Given the description of an element on the screen output the (x, y) to click on. 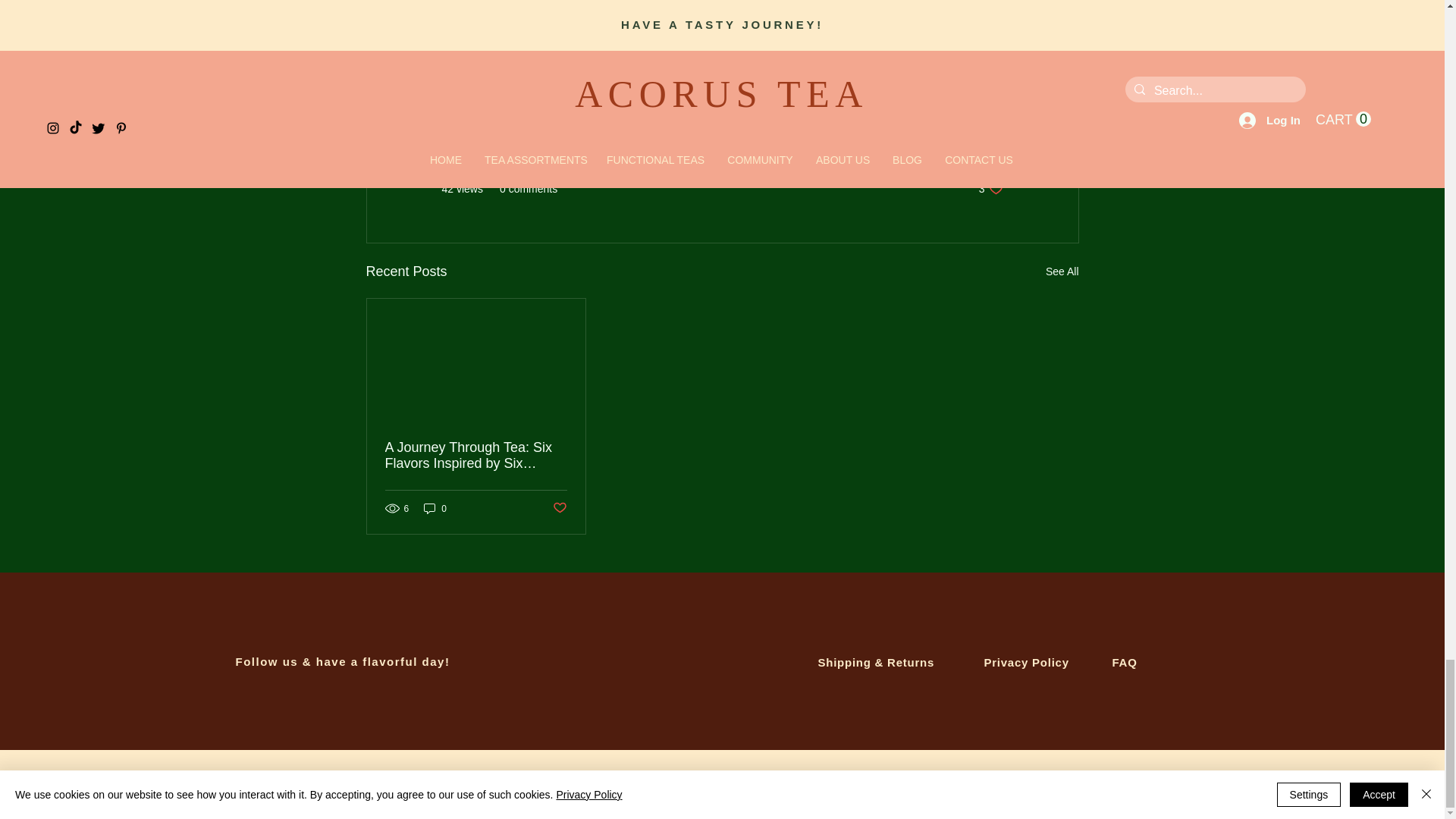
0 (435, 508)
A Journey Through Tea: Six Flavors Inspired by Six Countries (476, 455)
See All (1061, 271)
Privacy Policy (1026, 662)
Our products (972, 143)
FAQ (1124, 662)
Post not marked as liked (722, 20)
